Given the description of an element on the screen output the (x, y) to click on. 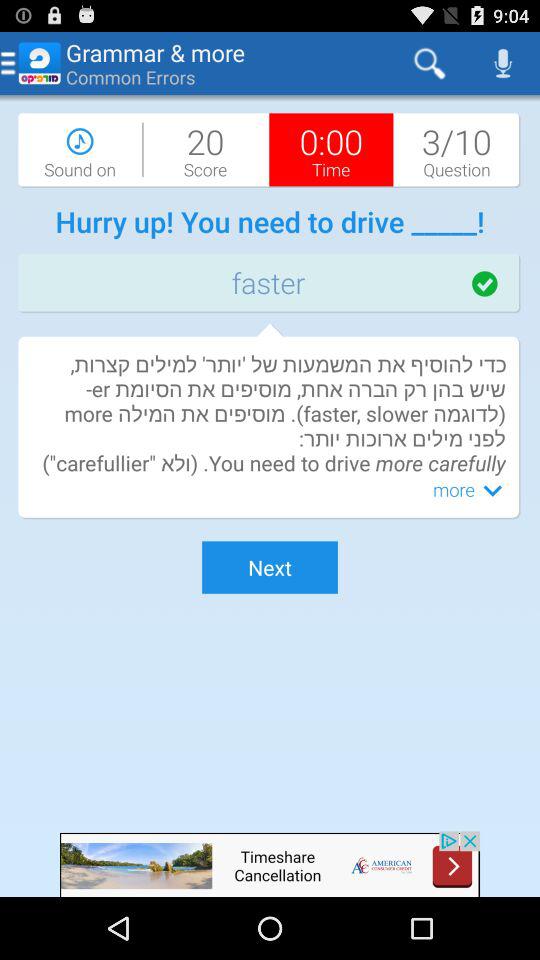
click on advertisement (270, 864)
